Given the description of an element on the screen output the (x, y) to click on. 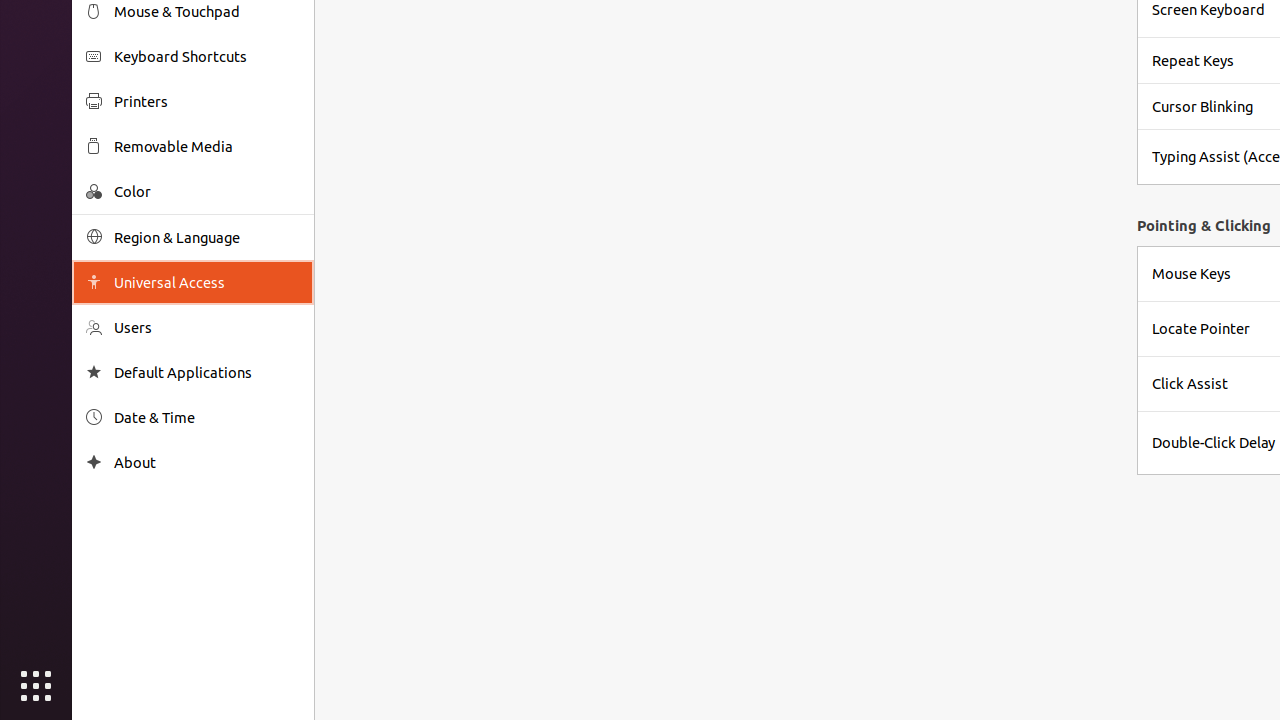
Double-Click Delay Element type: label (1213, 442)
Printers Element type: label (207, 101)
Date & Time Element type: label (207, 417)
Region & Language Element type: label (207, 237)
